Given the description of an element on the screen output the (x, y) to click on. 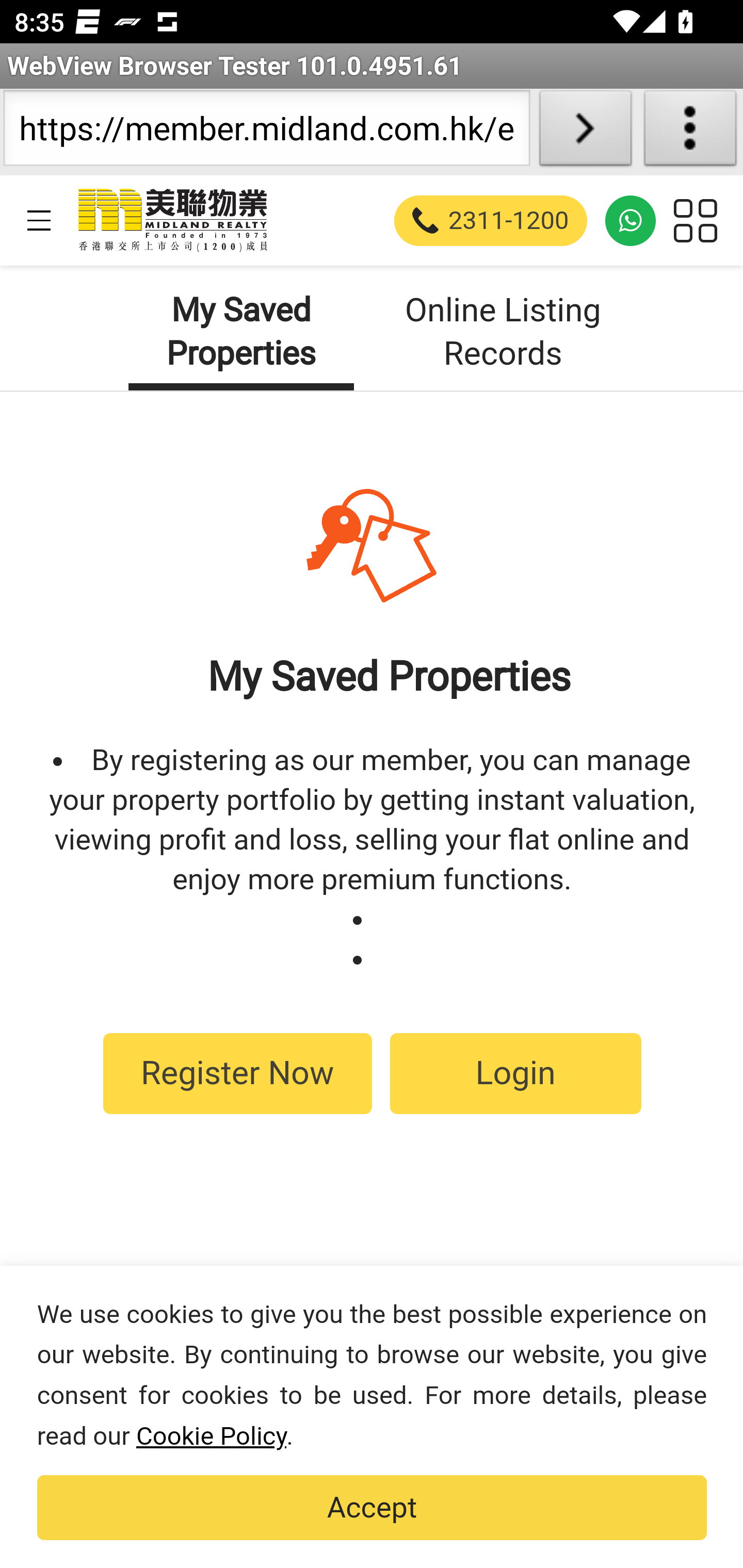
Load URL (585, 132)
About WebView (690, 132)
Midland Realty - Property Agency in Hong Kong (171, 220)
2311-1200 (490, 219)
WhatsApp: 2311-1200 (630, 219)
My Saved Properties (240, 332)
Online Listing Records (503, 332)
Register Now (237, 1072)
Login (514, 1072)
Cookie Policy (210, 1435)
Accept (372, 1508)
